Given the description of an element on the screen output the (x, y) to click on. 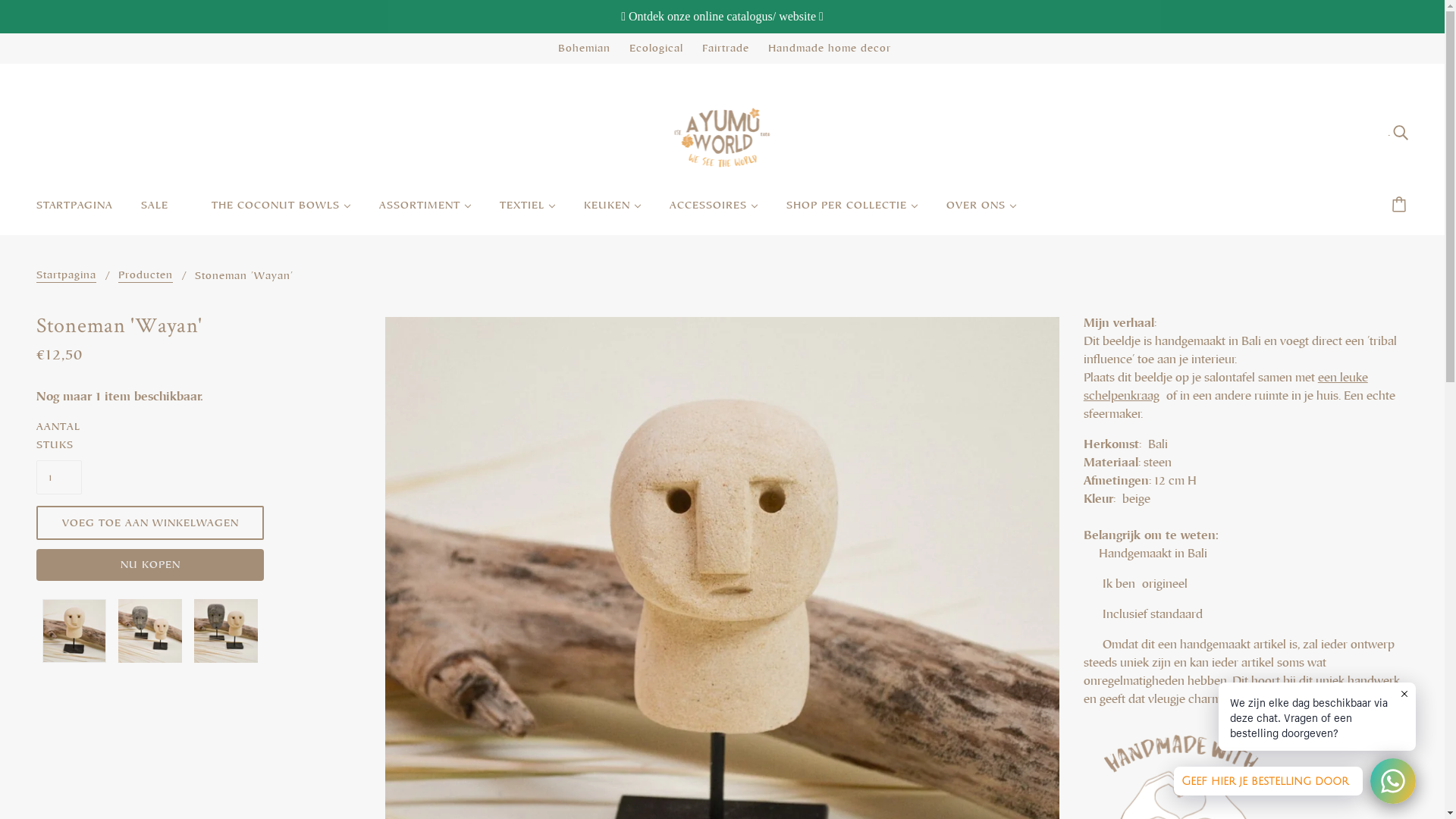
ACCESSOIRES Element type: text (713, 211)
THE COCONUT BOWLS Element type: text (281, 211)
Startpagina Element type: text (66, 275)
SHOP PER COLLECTIE Element type: text (852, 211)
OVER ONS Element type: text (981, 211)
Ayumu World Element type: hover (721, 130)
KEUKEN Element type: text (612, 211)
TEXTIEL Element type: text (527, 211)
. Element type: text (1397, 131)
STARTPAGINA Element type: text (74, 211)
een leuke schelpenkraag Element type: text (1225, 386)
ASSORTIMENT Element type: text (425, 211)
NU KOPEN Element type: text (149, 564)
Producten Element type: text (145, 275)
VOEG TOE AAN WINKELWAGEN Element type: text (149, 522)
